Given the description of an element on the screen output the (x, y) to click on. 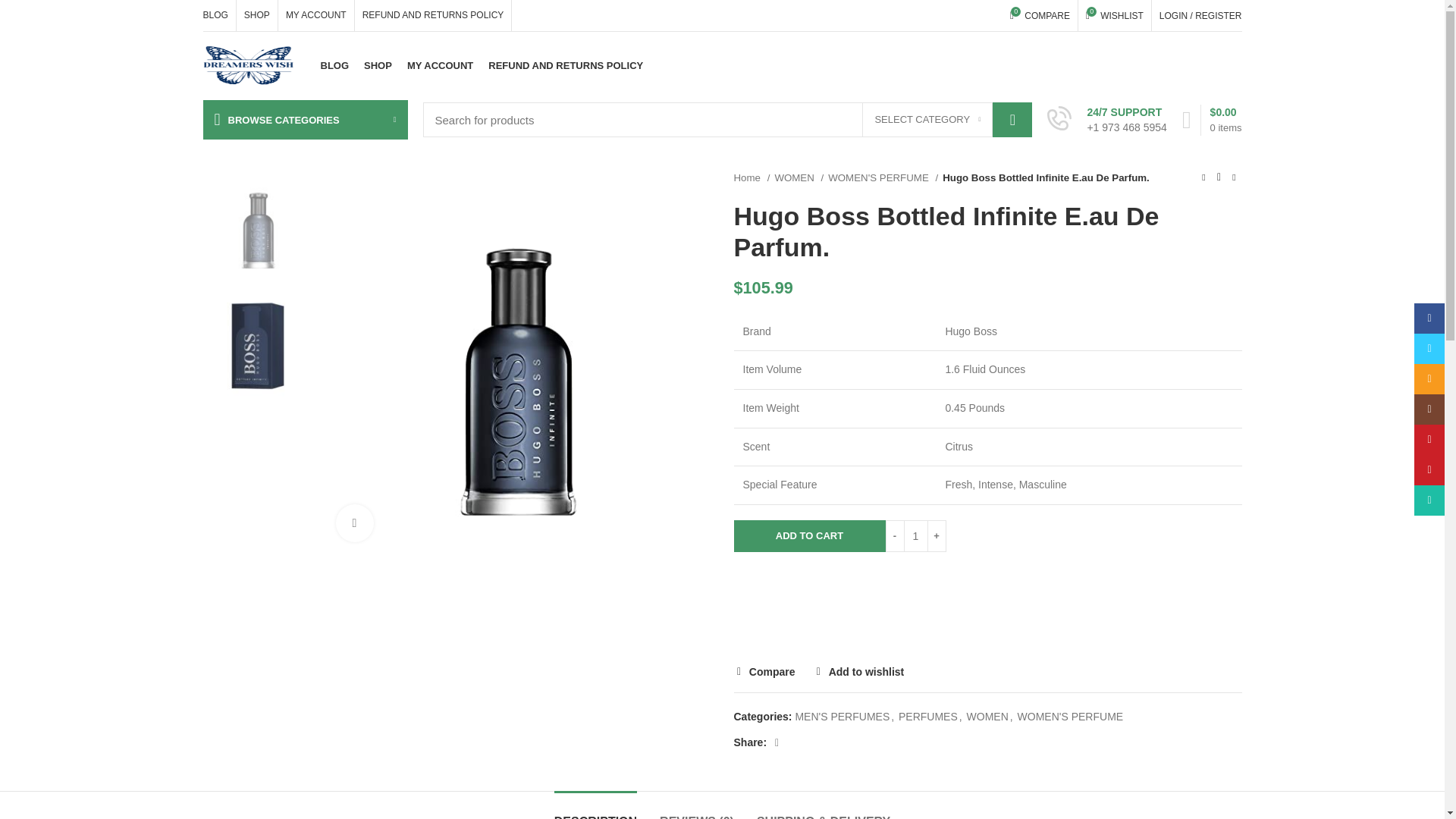
PayPal Message 1 (987, 589)
BLOG (215, 15)
BLOG (334, 65)
SELECT CATEGORY (926, 119)
My Wishlist (1114, 15)
SHOP (1114, 15)
MY ACCOUNT (256, 15)
MY ACCOUNT (439, 65)
Search for products (315, 15)
REFUND AND RETURNS POLICY (727, 119)
Compare products (565, 65)
Shopping cart (1040, 15)
PayPal (1211, 119)
